Given the description of an element on the screen output the (x, y) to click on. 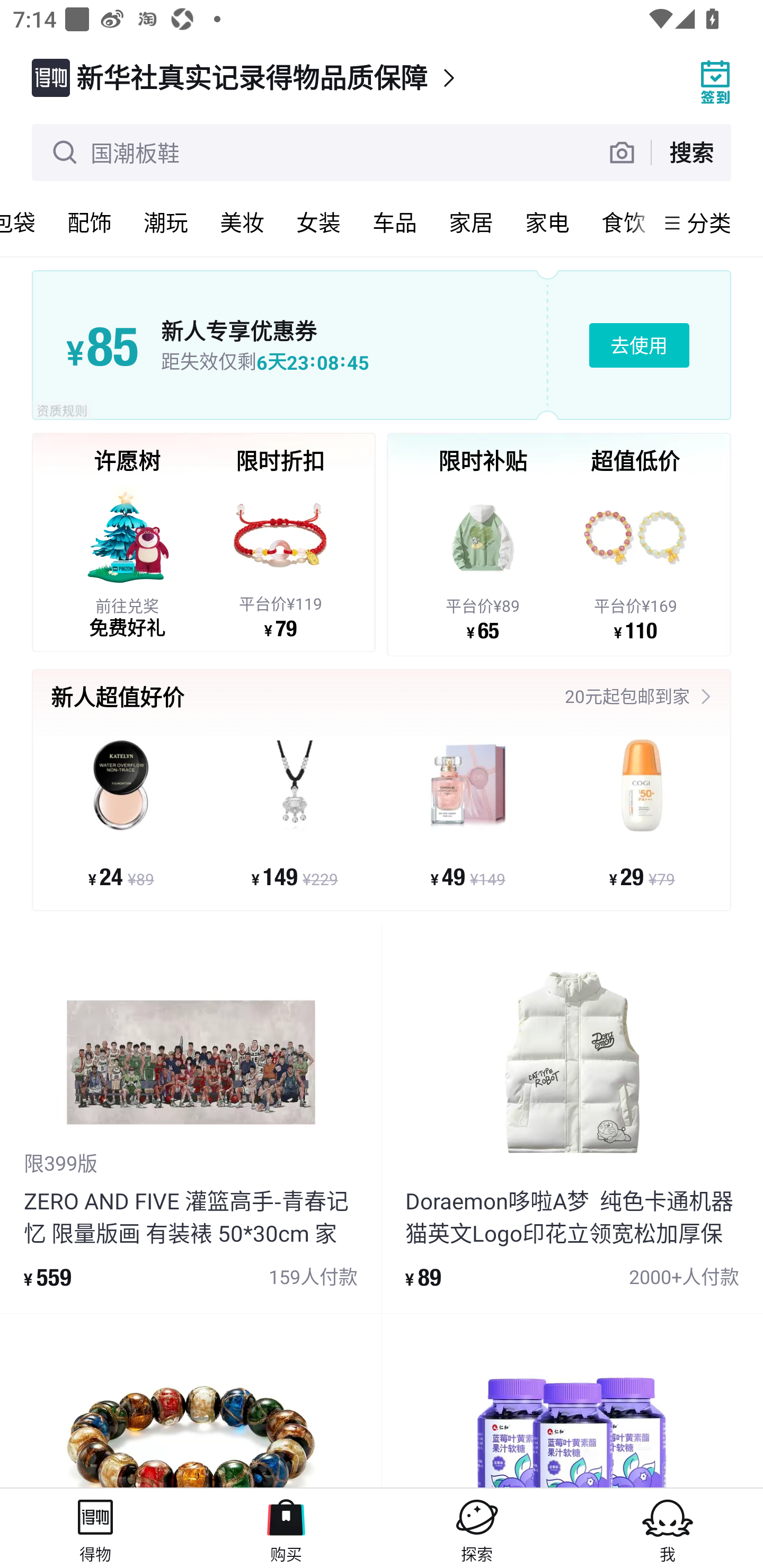
搜索 (690, 152)
配饰 (89, 222)
潮玩 (165, 222)
美妆 (241, 222)
女装 (318, 222)
车品 (394, 222)
家居 (470, 222)
家电 (546, 222)
食饮 (619, 222)
分类 (708, 222)
平台价¥119 ¥ 79 (279, 559)
前往兑奖 免费好礼 (127, 559)
平台价¥89 ¥ 65 (482, 560)
平台价¥169 ¥ 110 (635, 560)
¥ 24 ¥89 (121, 813)
¥ 149 ¥229 (294, 813)
¥ 49 ¥149 (468, 813)
¥ 29 ¥79 (641, 813)
product_item (190, 1400)
product_item (572, 1400)
得物 (95, 1528)
购买 (285, 1528)
探索 (476, 1528)
我 (667, 1528)
